Given the description of an element on the screen output the (x, y) to click on. 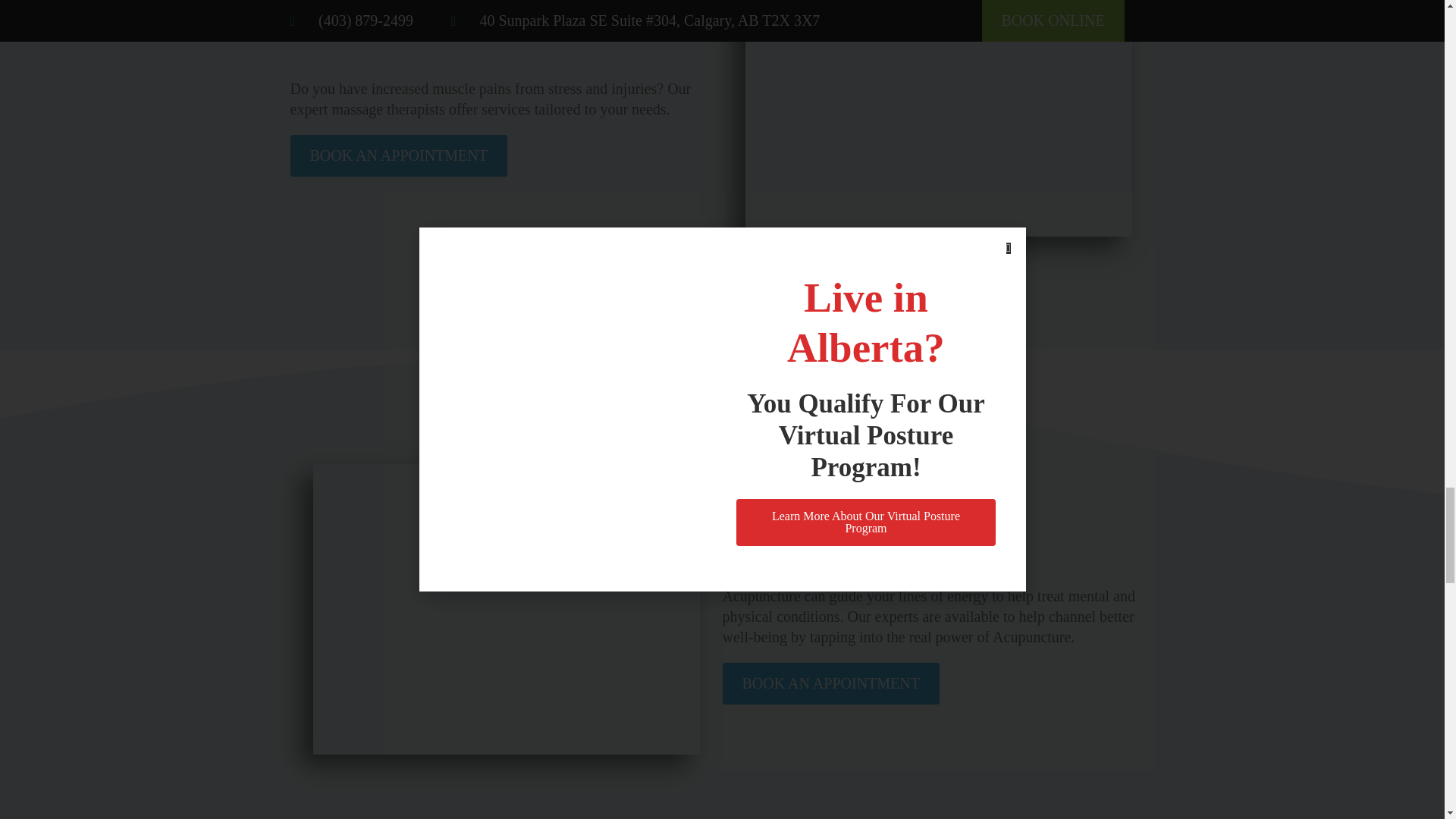
BOOK AN APPOINTMENT (397, 155)
